Given the description of an element on the screen output the (x, y) to click on. 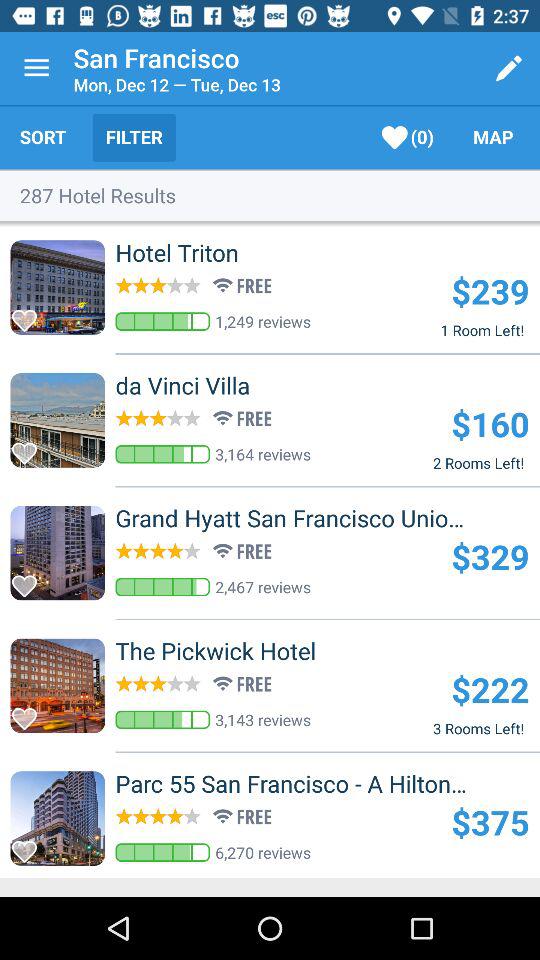
tap the icon next to san francisco (36, 68)
